Given the description of an element on the screen output the (x, y) to click on. 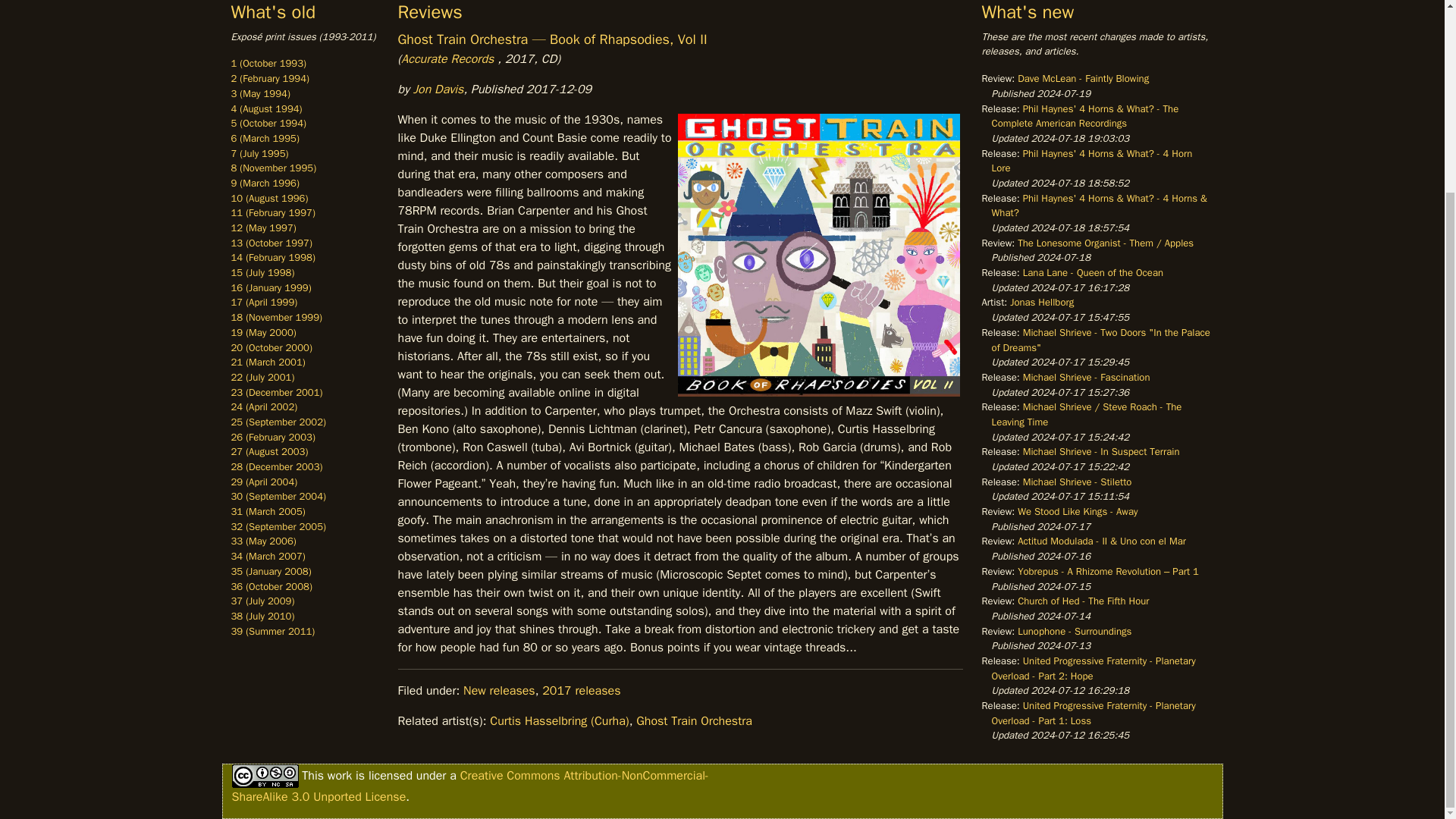
Book of Rhapsodies, Vol II Cover art (819, 254)
